Given the description of an element on the screen output the (x, y) to click on. 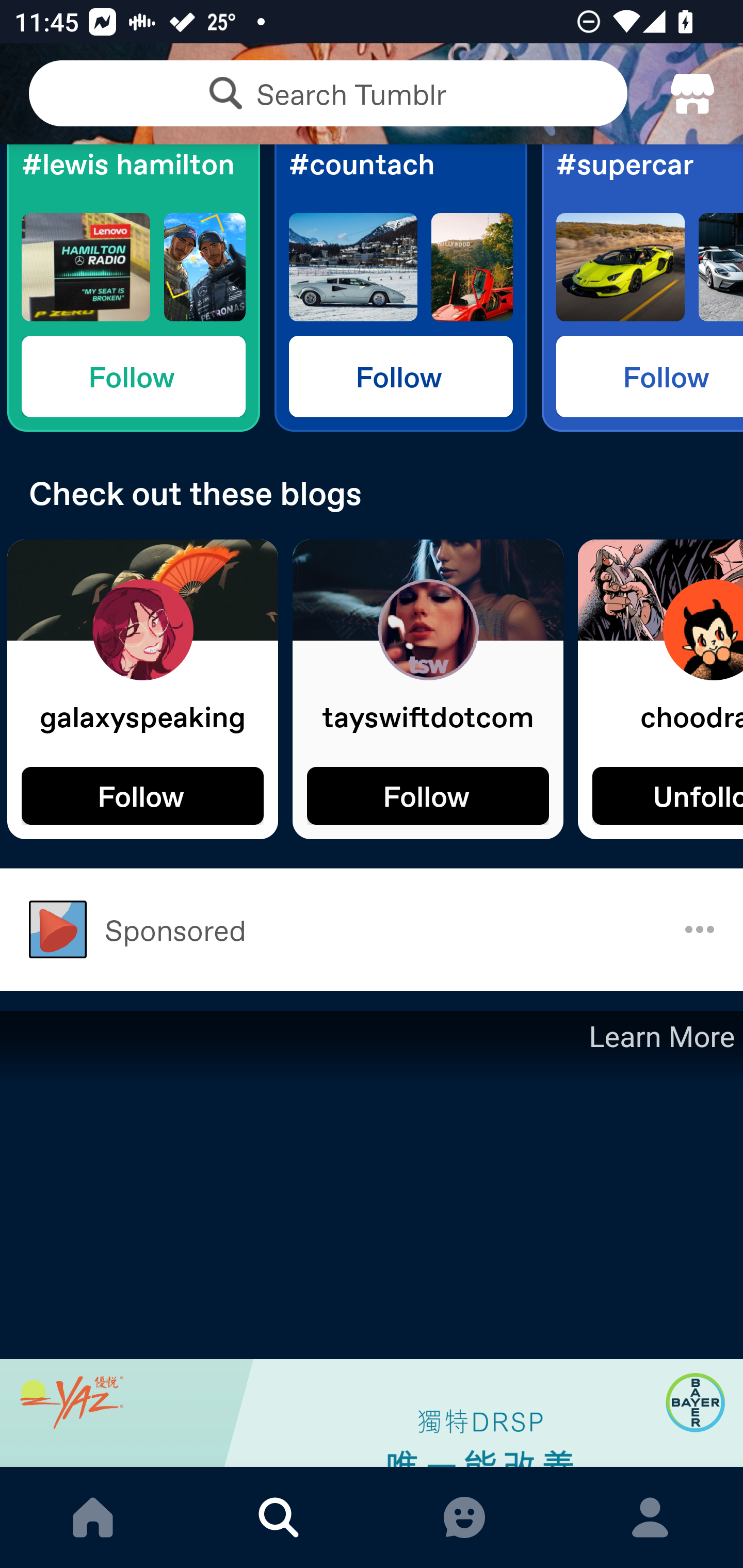
Search Tumblr (327, 93)
TumblrMart (692, 94)
#lewis hamilton Follow (133, 287)
#countach Follow (400, 287)
#supercar Follow (642, 287)
Follow (133, 376)
Follow (400, 376)
Follow (649, 376)
Check out these blogs (371, 492)
galaxyspeaking Follow (142, 688)
tayswiftdotcom Follow (427, 688)
choodraws Unfollow (660, 688)
Follow (142, 795)
Follow (427, 795)
Unfollow (667, 795)
Why do I see this ad? (699, 929)
Learn More (371, 1239)
Learn More (660, 1037)
DASHBOARD (92, 1517)
EXPLORE (278, 1517)
MESSAGES (464, 1517)
ACCOUNT (650, 1517)
